Given the description of an element on the screen output the (x, y) to click on. 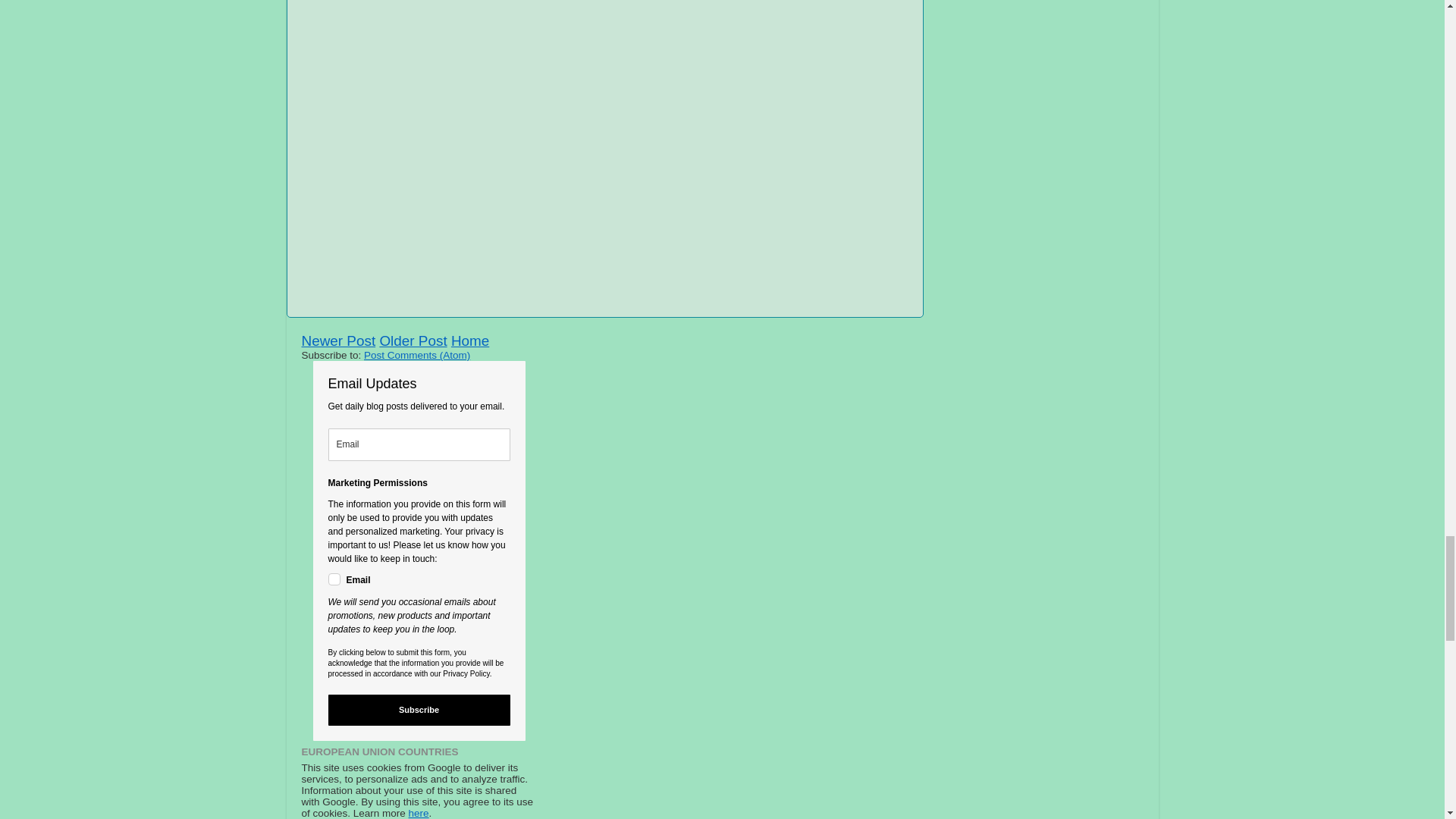
Newer Post (338, 340)
Older Post (412, 340)
